Given the description of an element on the screen output the (x, y) to click on. 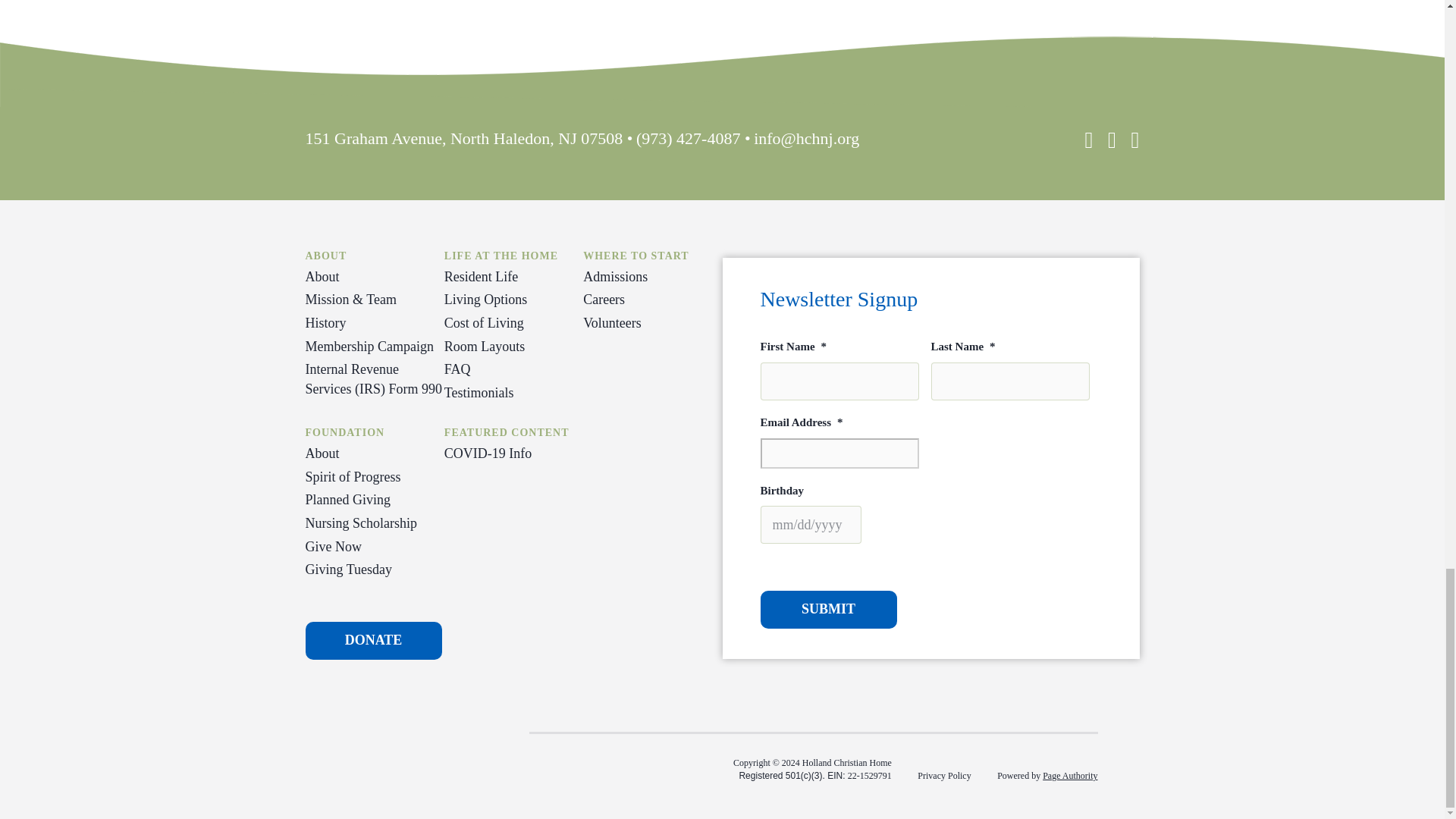
Submit (828, 609)
